Given the description of an element on the screen output the (x, y) to click on. 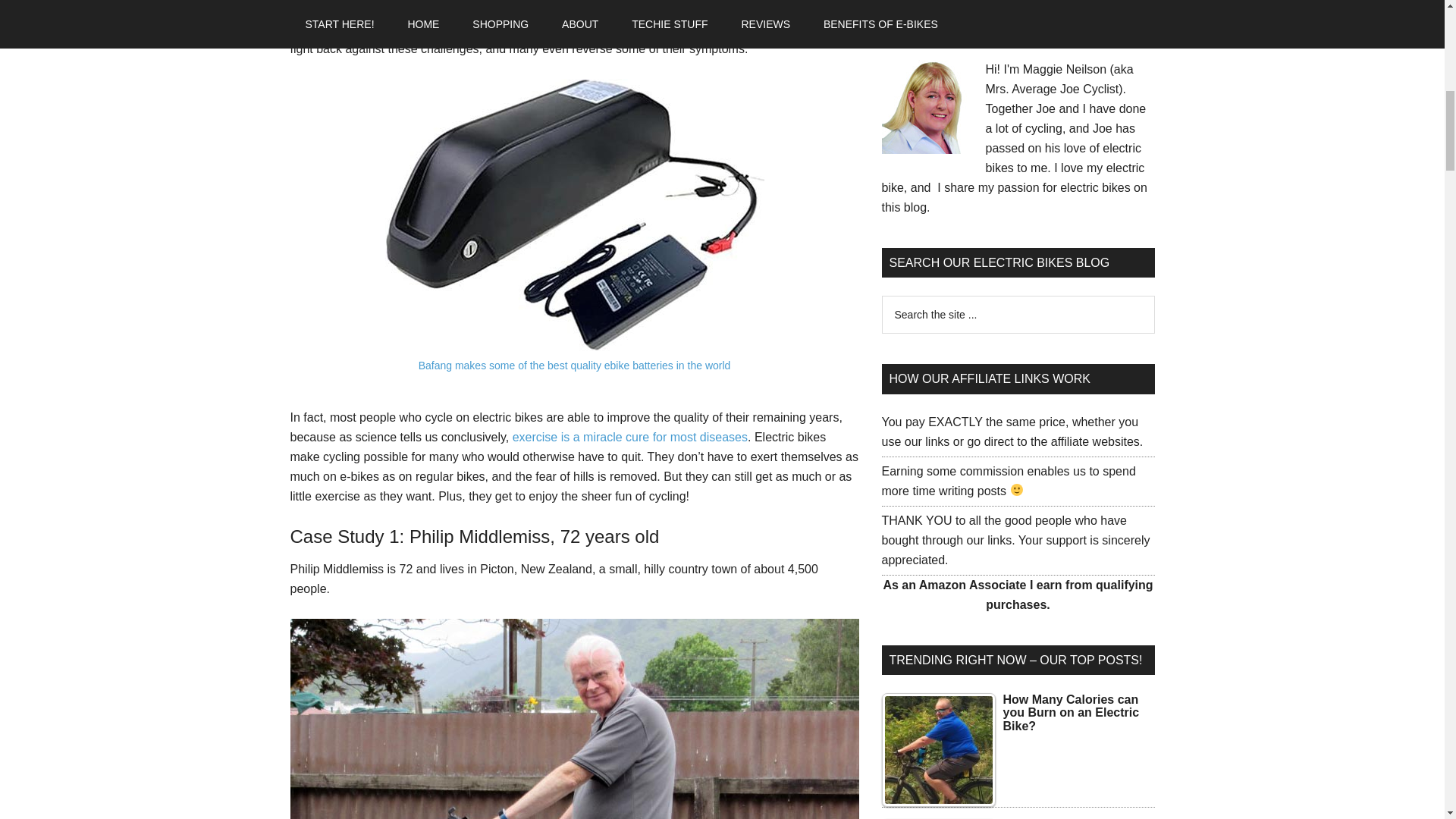
How Many Calories can you Burn on an Electric Bike? (937, 749)
